Given the description of an element on the screen output the (x, y) to click on. 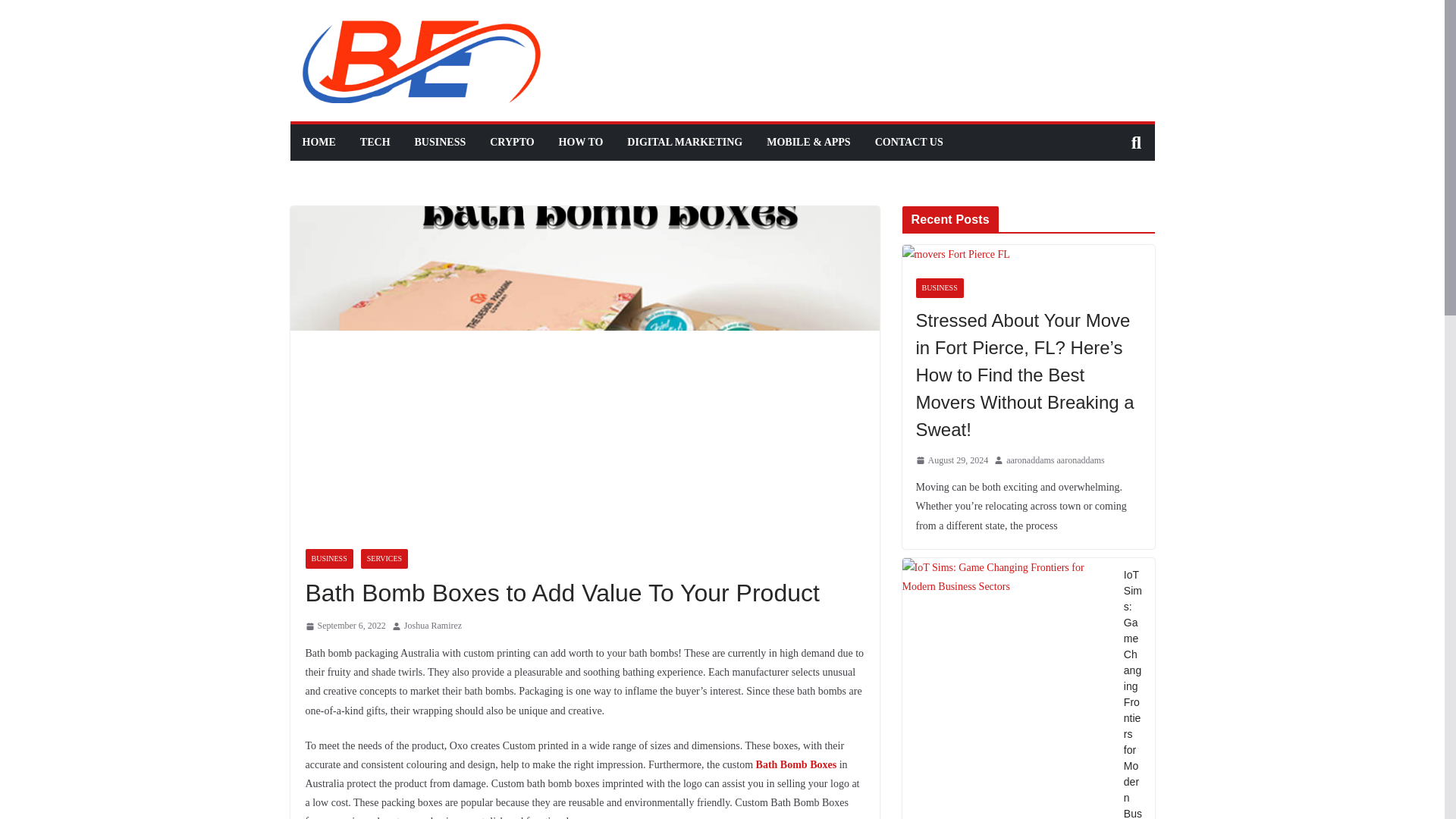
CONTACT US (909, 142)
September 6, 2022 (344, 626)
SERVICES (384, 558)
BUSINESS (439, 142)
10:59 am (344, 626)
HOW TO (581, 142)
BUSINESS (328, 558)
DIGITAL MARKETING (684, 142)
CRYPTO (511, 142)
TECH (374, 142)
